Given the description of an element on the screen output the (x, y) to click on. 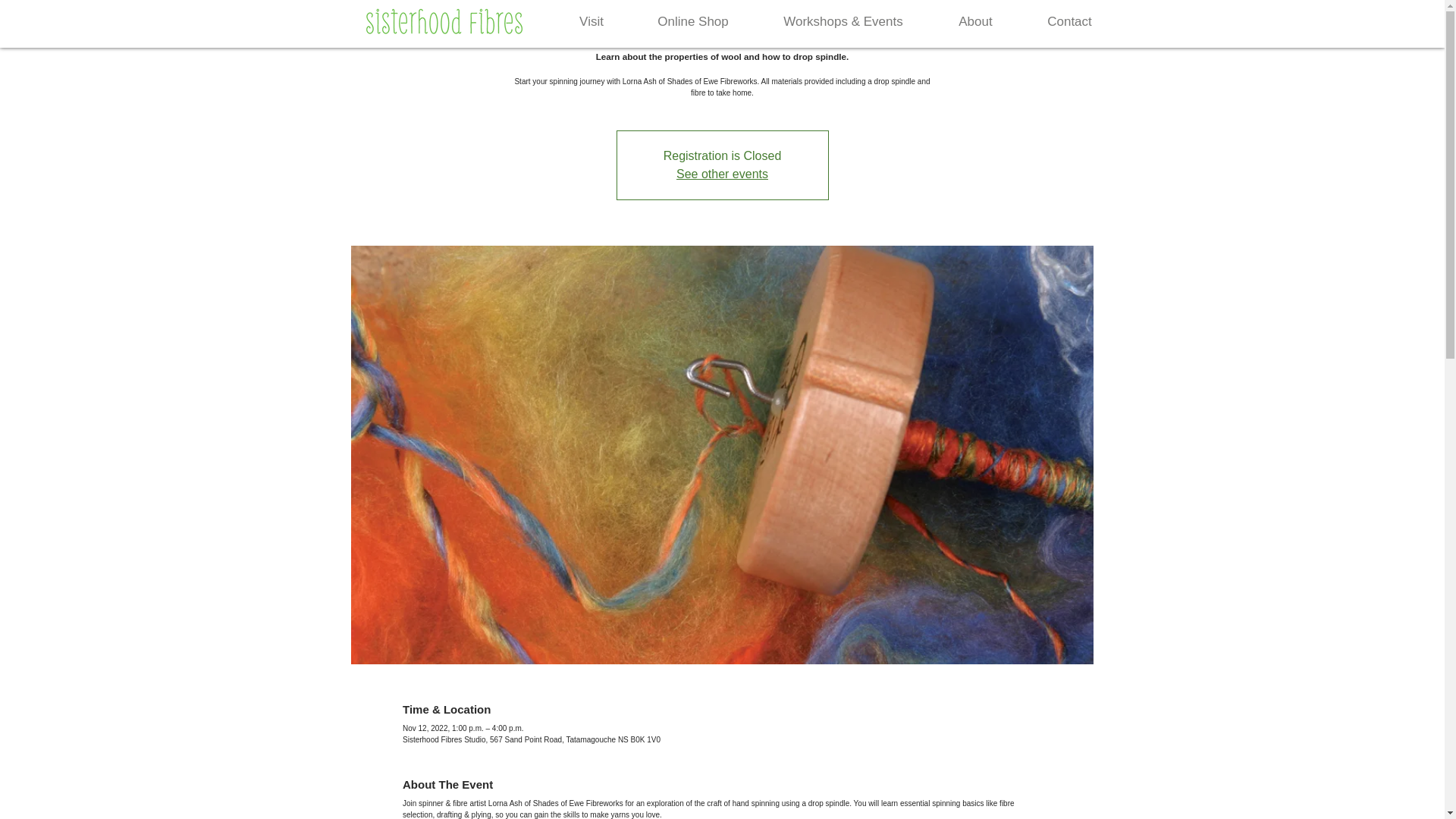
See other events (722, 173)
Online Shop (692, 21)
Visit (590, 21)
Contact (1069, 21)
About (975, 21)
